Given the description of an element on the screen output the (x, y) to click on. 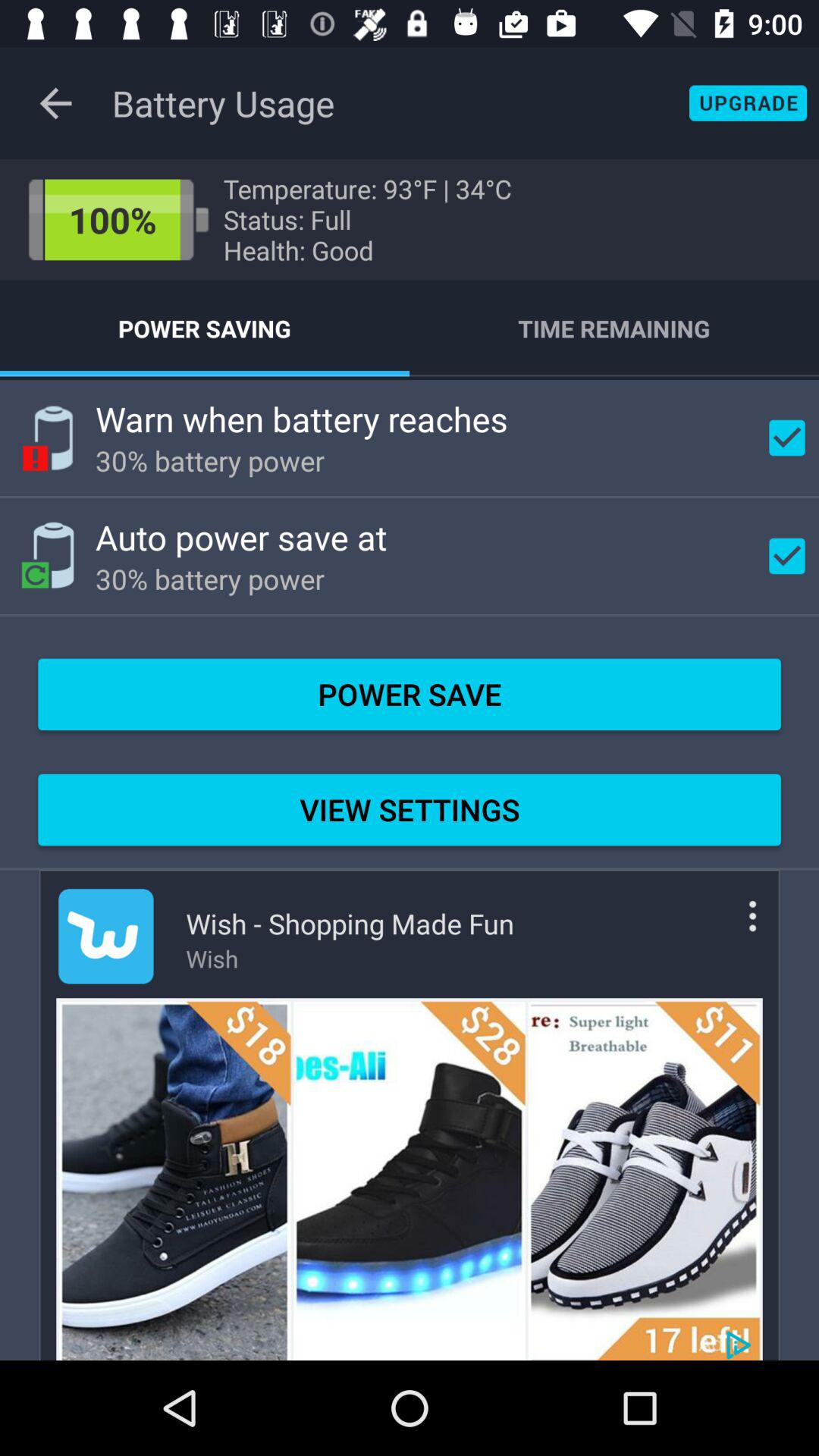
go back (55, 103)
